Given the description of an element on the screen output the (x, y) to click on. 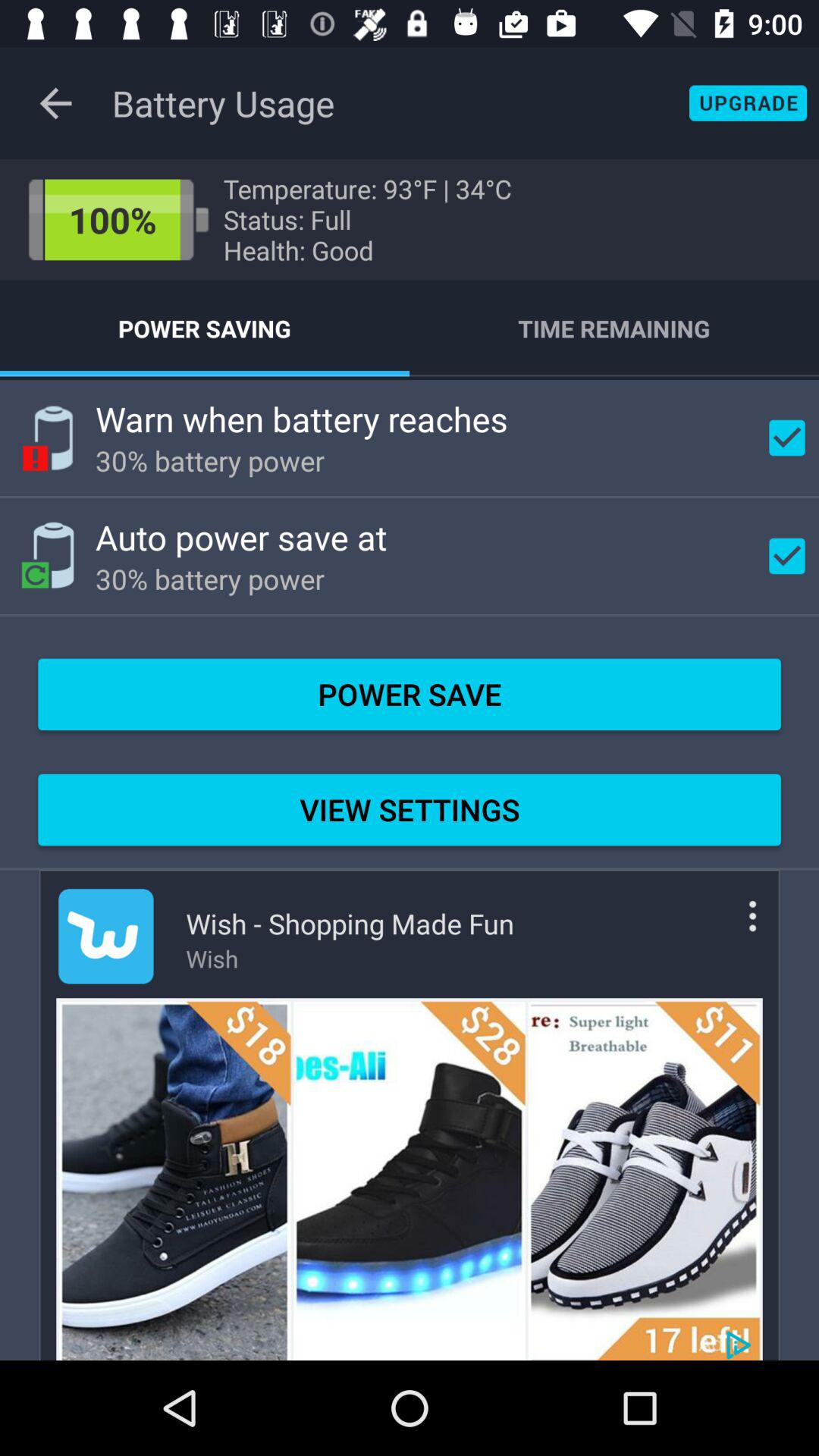
go back (55, 103)
